Given the description of an element on the screen output the (x, y) to click on. 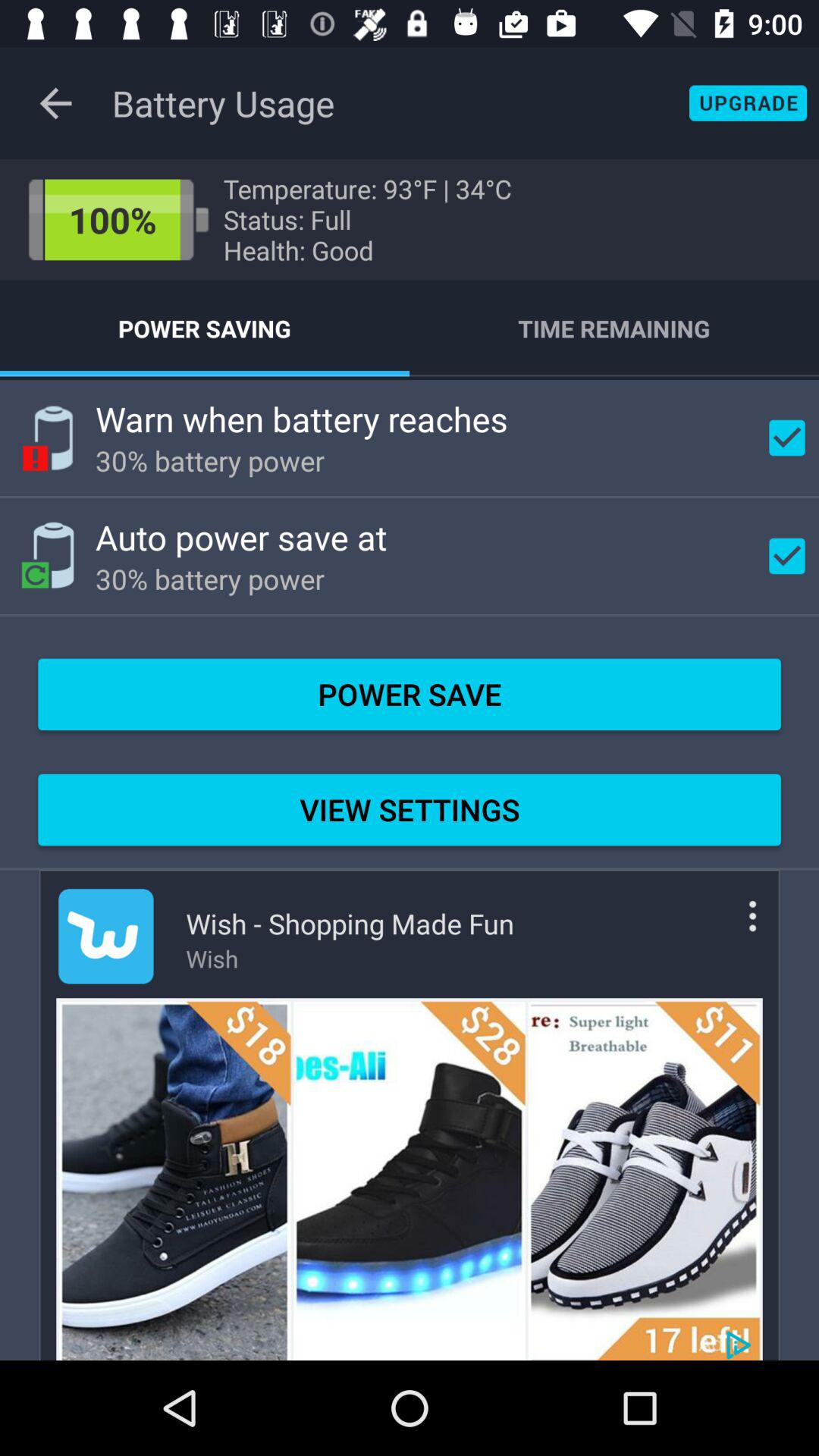
go back (55, 103)
